Given the description of an element on the screen output the (x, y) to click on. 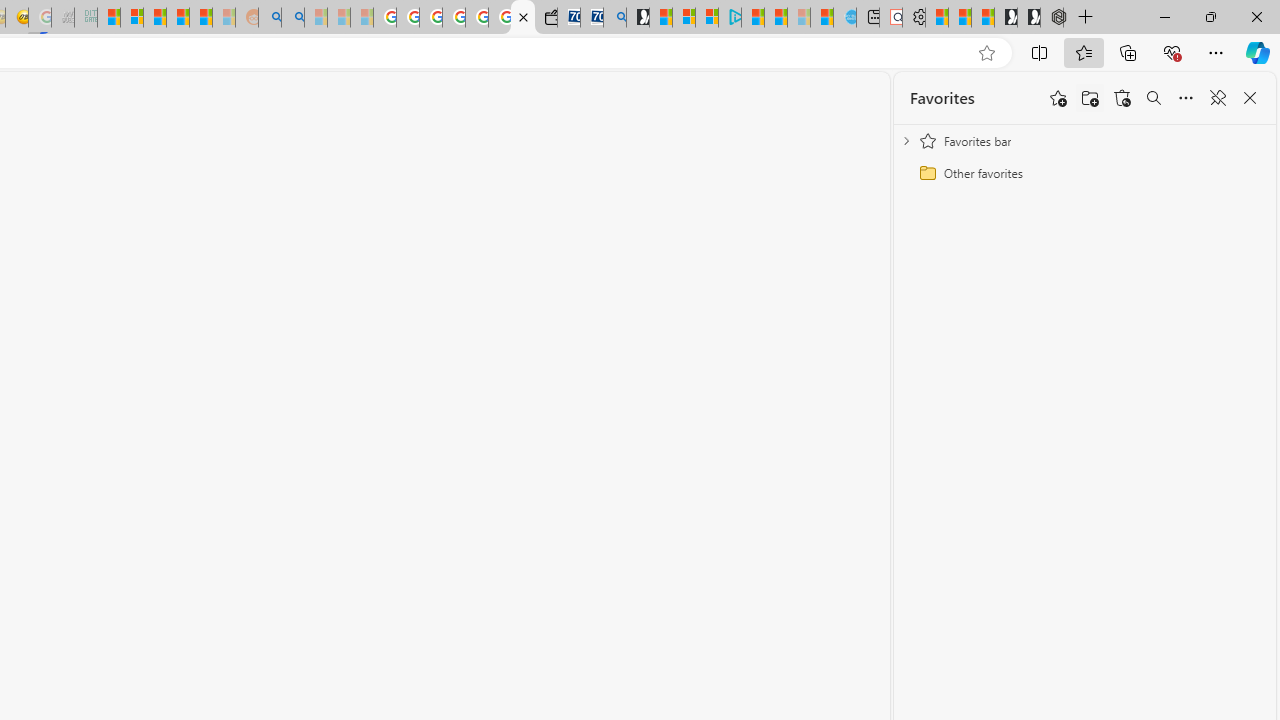
Add this page to favorites (1058, 98)
Home | Sky Blue Bikes - Sky Blue Bikes (845, 17)
Utah sues federal government - Search (292, 17)
Wallet (545, 17)
